Given the description of an element on the screen output the (x, y) to click on. 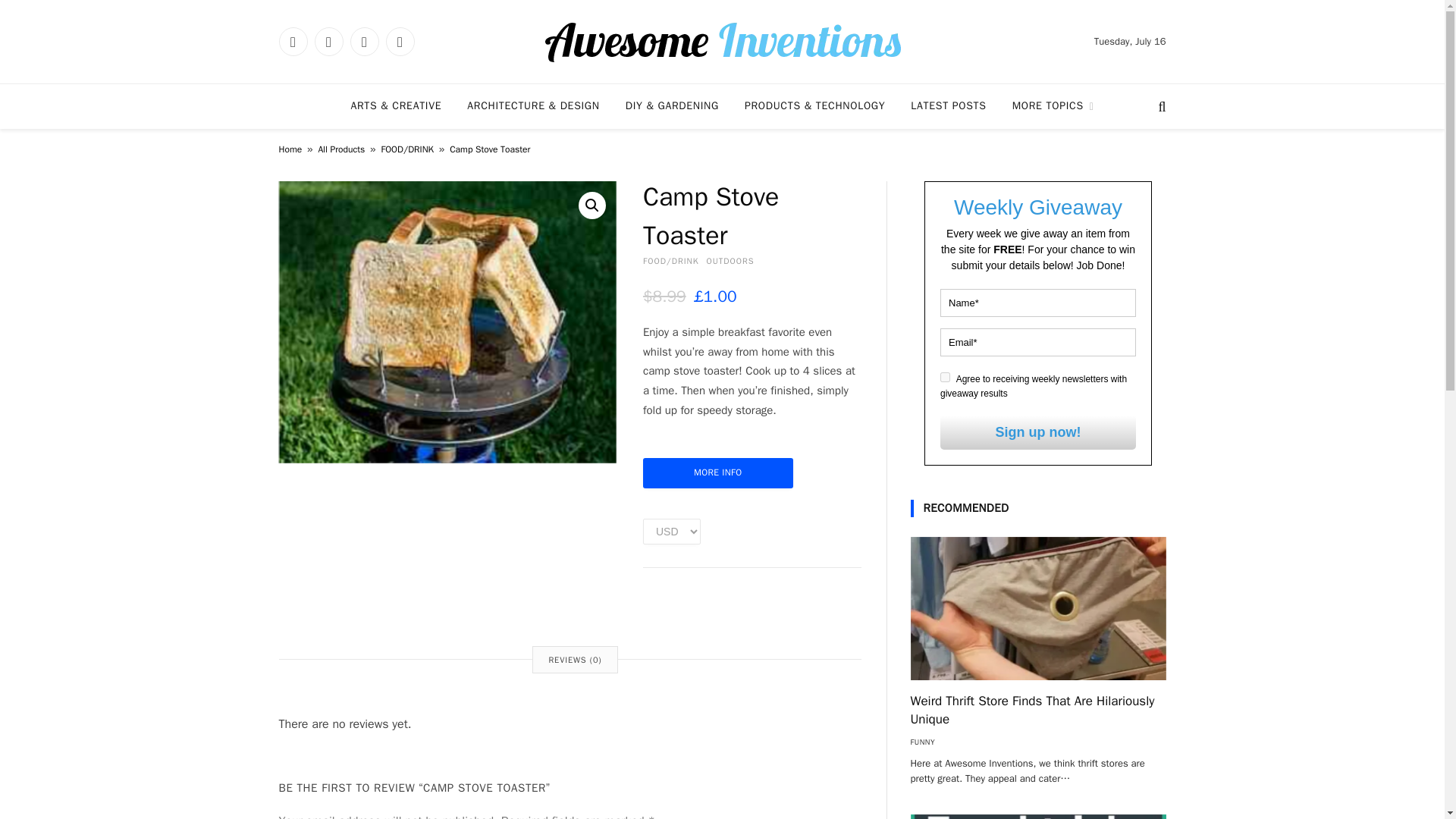
camp stove toaster (447, 321)
Pinterest (399, 41)
All Products (341, 149)
MORE TOPICS (1052, 106)
on (945, 377)
LATEST POSTS (948, 106)
Latest Posts (948, 106)
Instagram (364, 41)
Select one (671, 531)
MORE INFO (718, 472)
Facebook (293, 41)
OUTDOORS (730, 260)
Home (290, 149)
Awesome Inventions (721, 41)
